Given the description of an element on the screen output the (x, y) to click on. 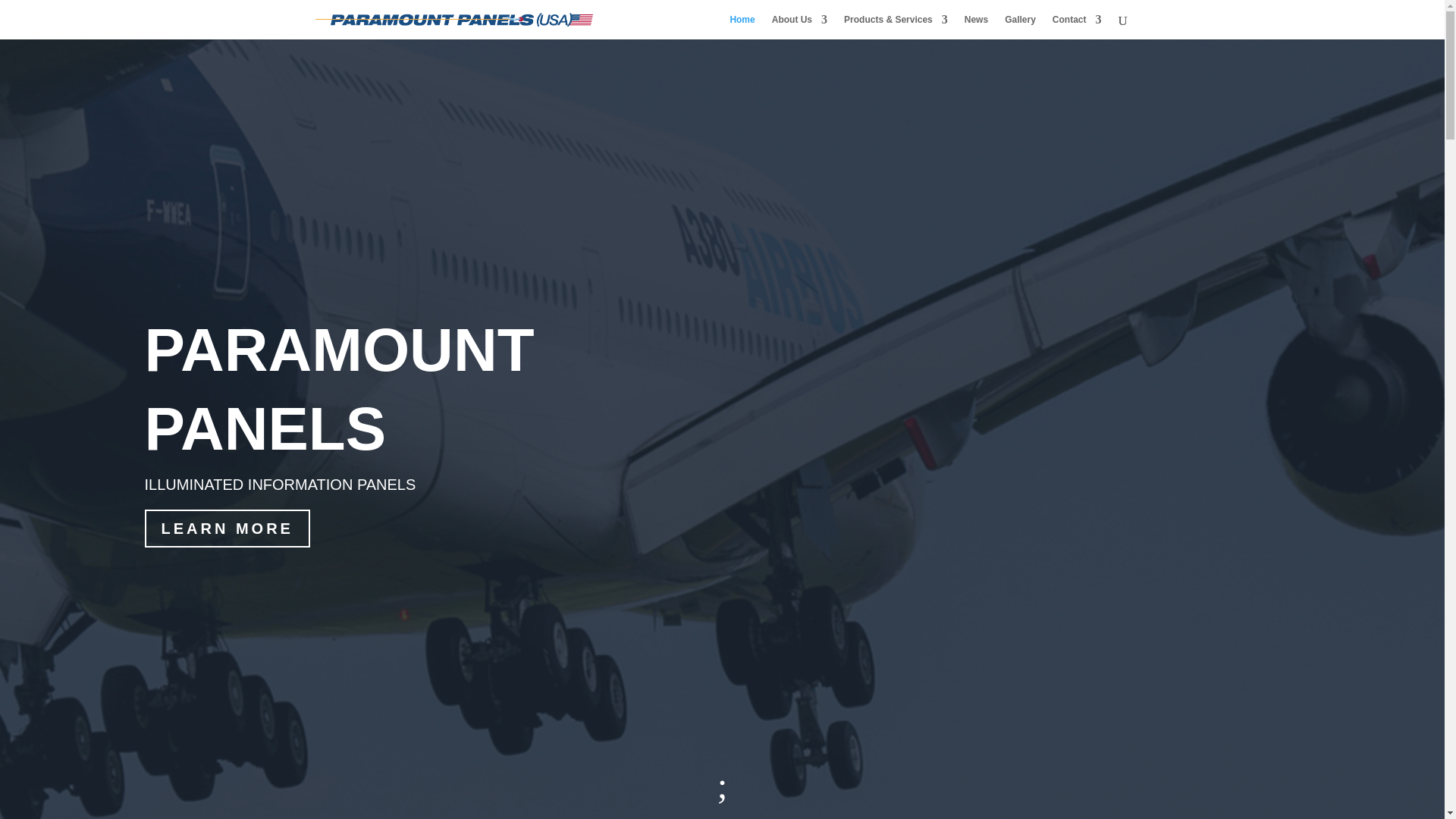
About Us (799, 26)
; (722, 784)
Home (741, 26)
; (722, 784)
Contact (1077, 26)
News (975, 26)
Gallery (1019, 26)
